Given the description of an element on the screen output the (x, y) to click on. 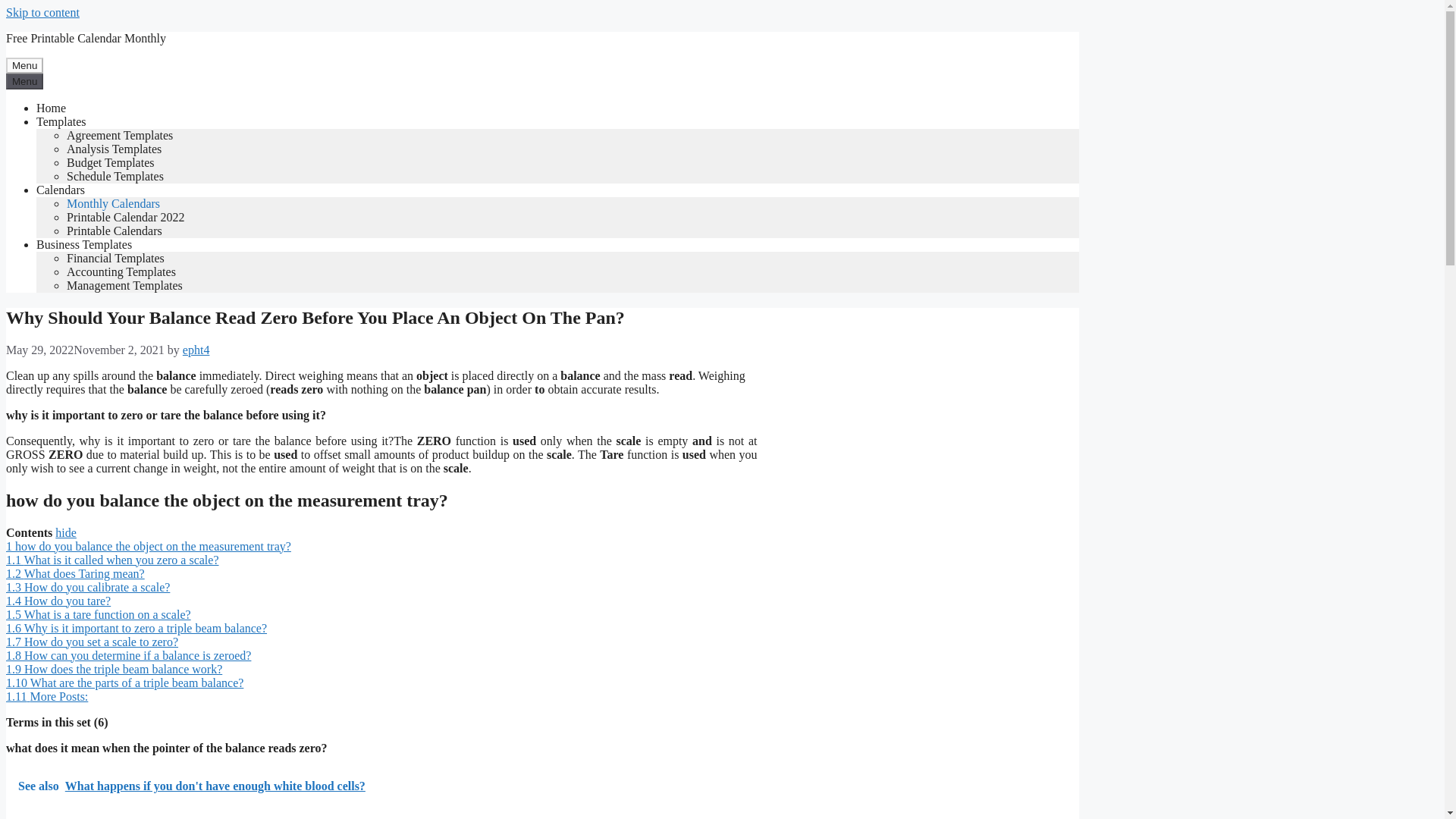
Business Templates (84, 244)
epht4 (196, 349)
1.7 How do you set a scale to zero? (91, 641)
View all posts by epht4 (196, 349)
1.1 What is it called when you zero a scale? (112, 559)
Printable Calendars (113, 230)
Management Templates (124, 285)
Agreement Templates (119, 134)
1.2 What does Taring mean? (74, 573)
